Given the description of an element on the screen output the (x, y) to click on. 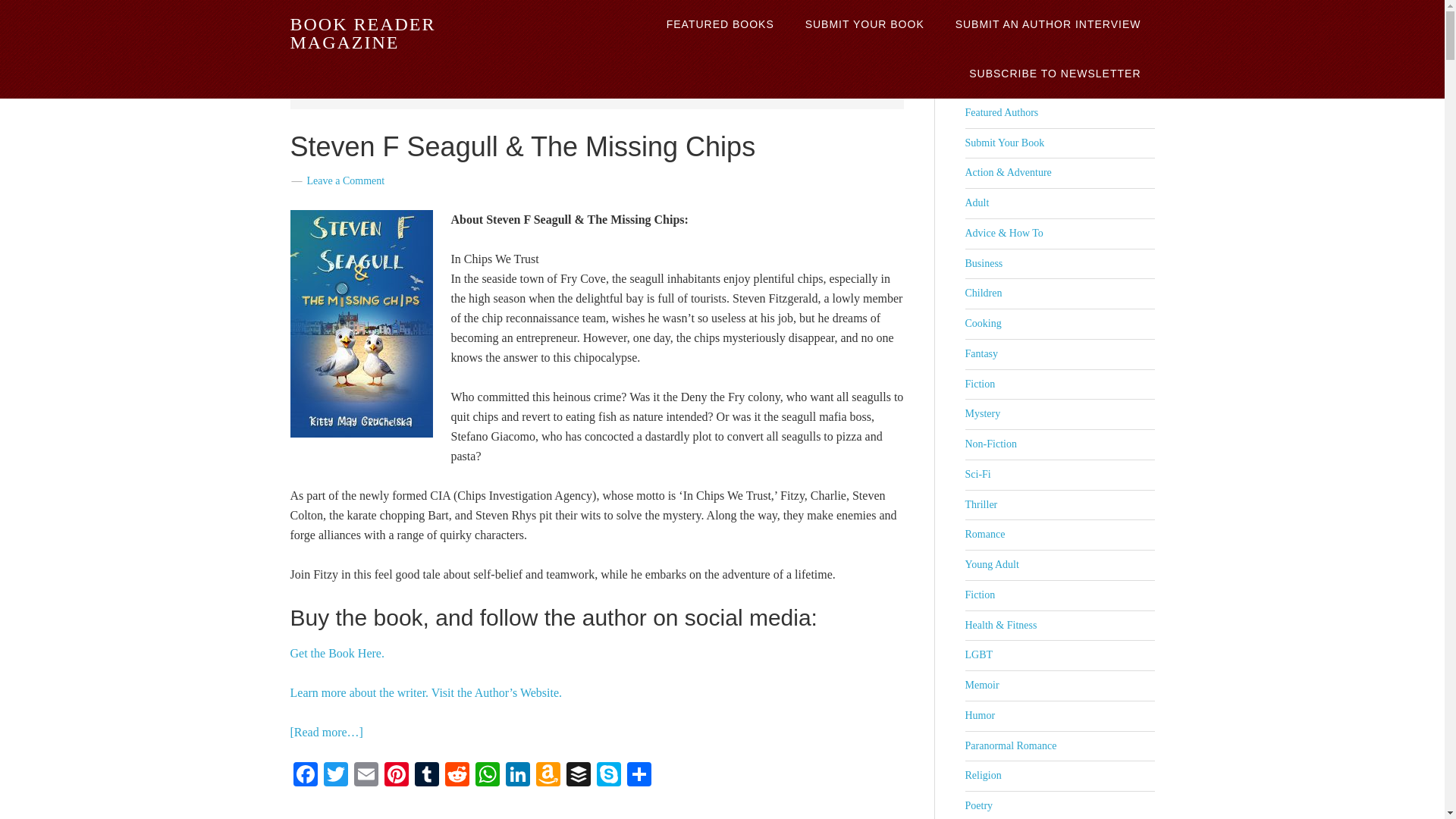
Reddit (456, 775)
WhatsApp (486, 775)
Email (365, 775)
Email (365, 775)
Buffer (577, 775)
Facebook (304, 775)
Pinterest (395, 775)
SUBMIT YOUR BOOK (864, 24)
Amazon Wish List (547, 775)
Tumblr (425, 775)
Get the Book Here. (336, 652)
Skype (607, 775)
Newsletter subscription (1054, 73)
Leave a Comment (344, 180)
Buffer (577, 775)
